Given the description of an element on the screen output the (x, y) to click on. 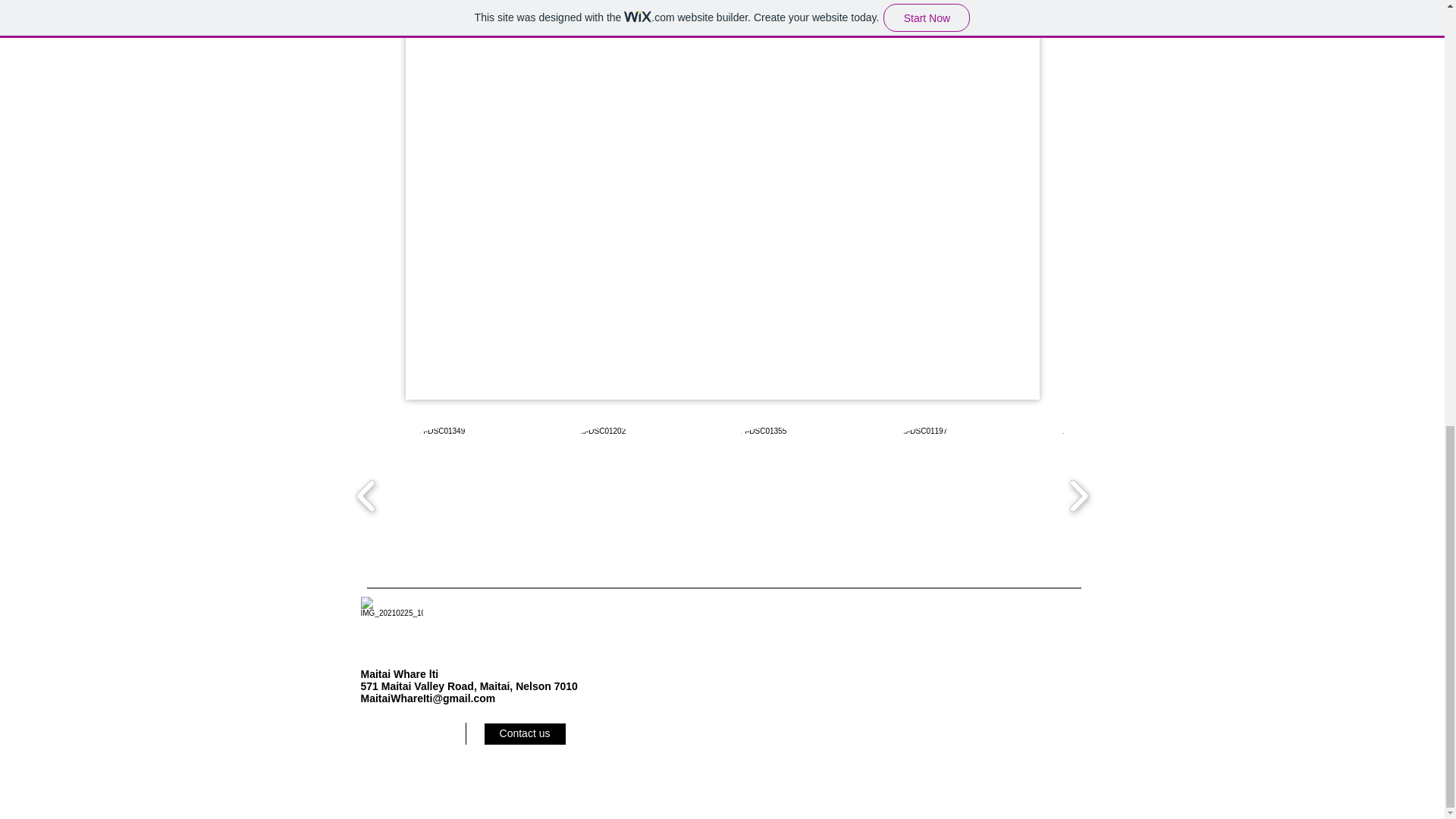
Contact us (523, 733)
